Given the description of an element on the screen output the (x, y) to click on. 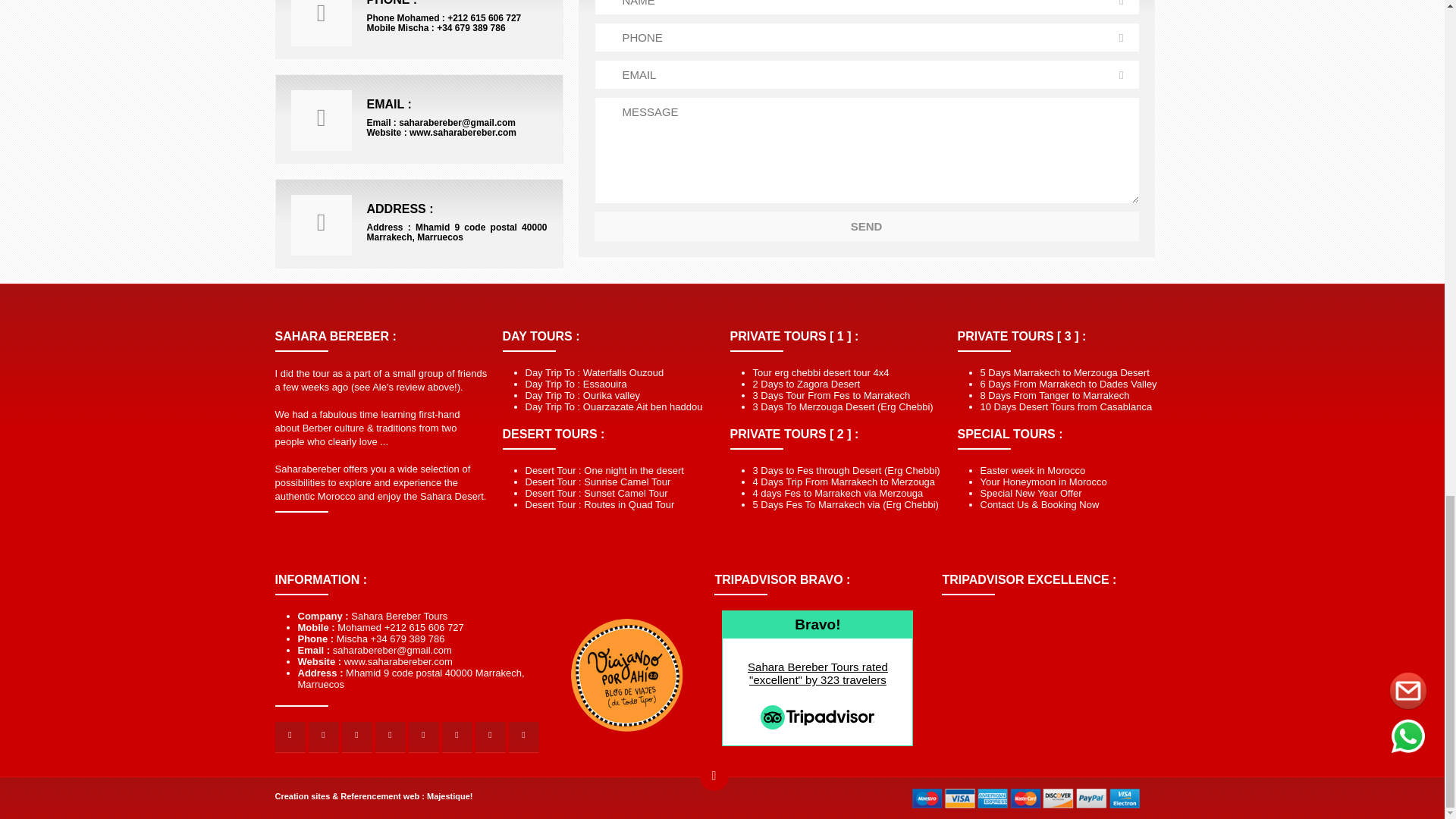
SEND (866, 225)
